Given the description of an element on the screen output the (x, y) to click on. 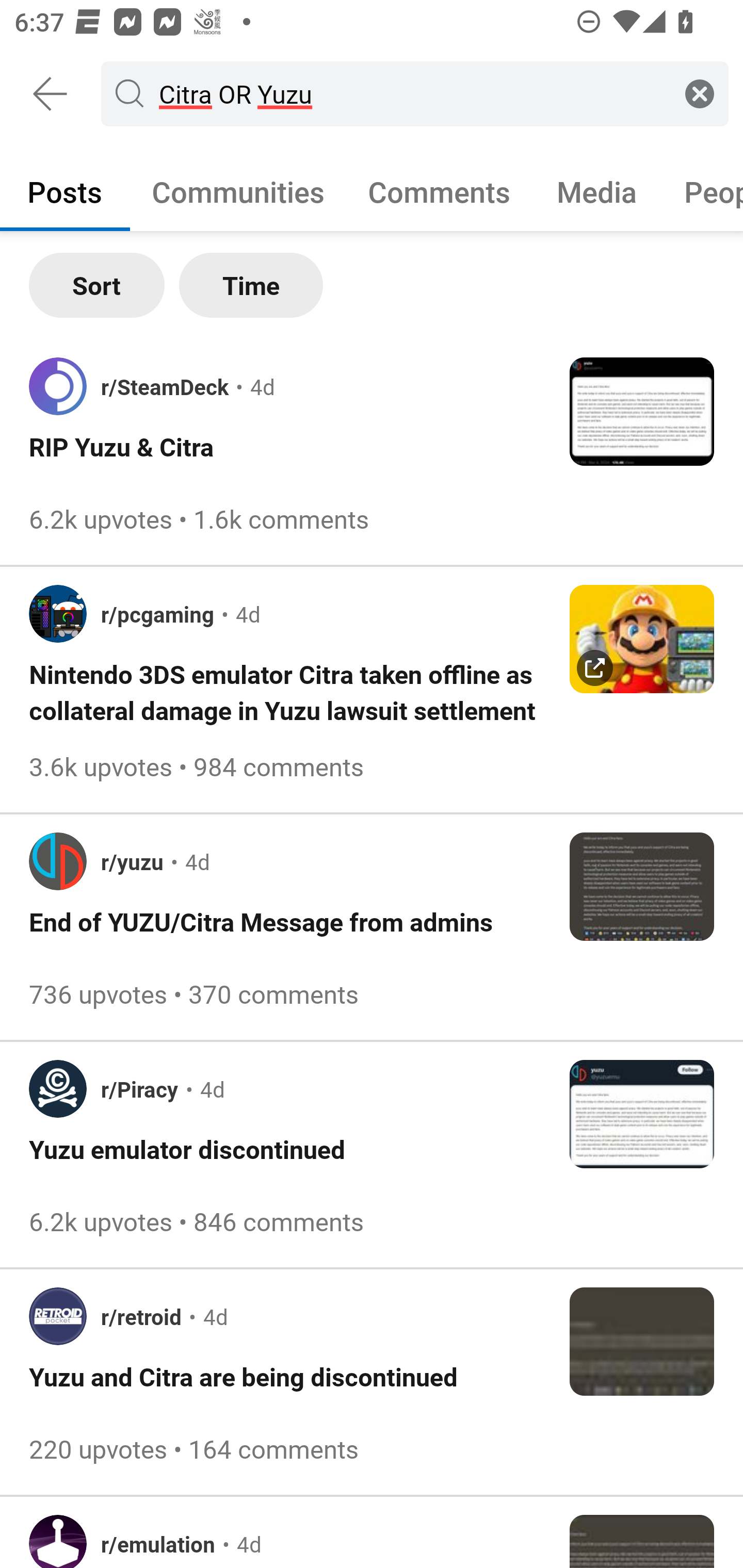
Back (50, 93)
Citra OR Yuzu (410, 93)
Clear search (699, 93)
Communities (238, 191)
Comments (438, 191)
Media (596, 191)
Sort Sort by Most relevant (96, 285)
Time Filter Time by All time (251, 285)
